Given the description of an element on the screen output the (x, y) to click on. 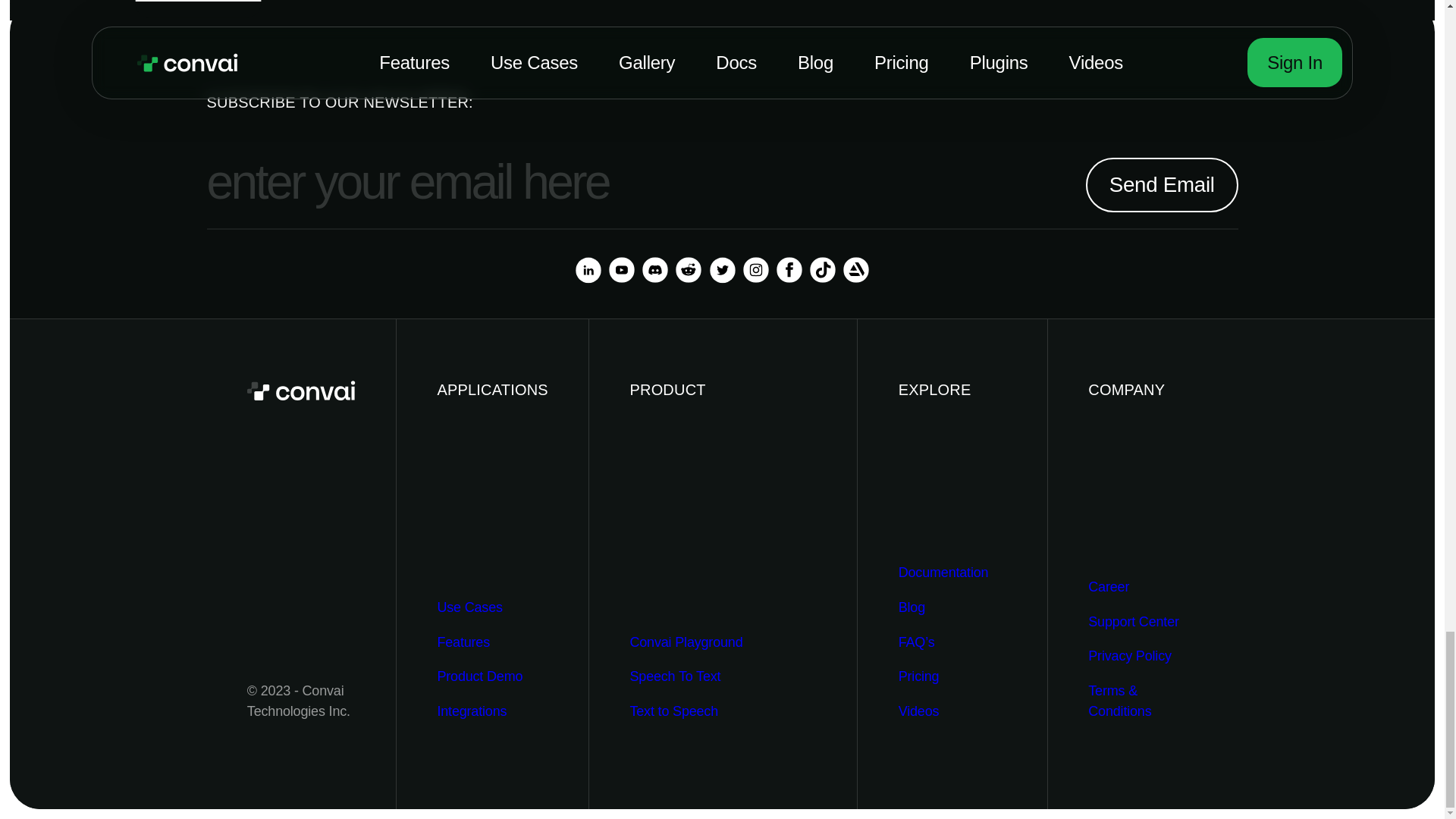
Videos (918, 711)
Text to Speech (672, 711)
Send Email (1162, 185)
Product Demo (479, 676)
Use Cases (469, 607)
Speech To Text (674, 676)
Blog (911, 607)
Send Email (1162, 185)
Integrations (471, 711)
Career (1108, 587)
Features (462, 642)
Support Center (1133, 621)
Pricing (918, 676)
Convai Playground (685, 642)
Documentation (943, 572)
